Given the description of an element on the screen output the (x, y) to click on. 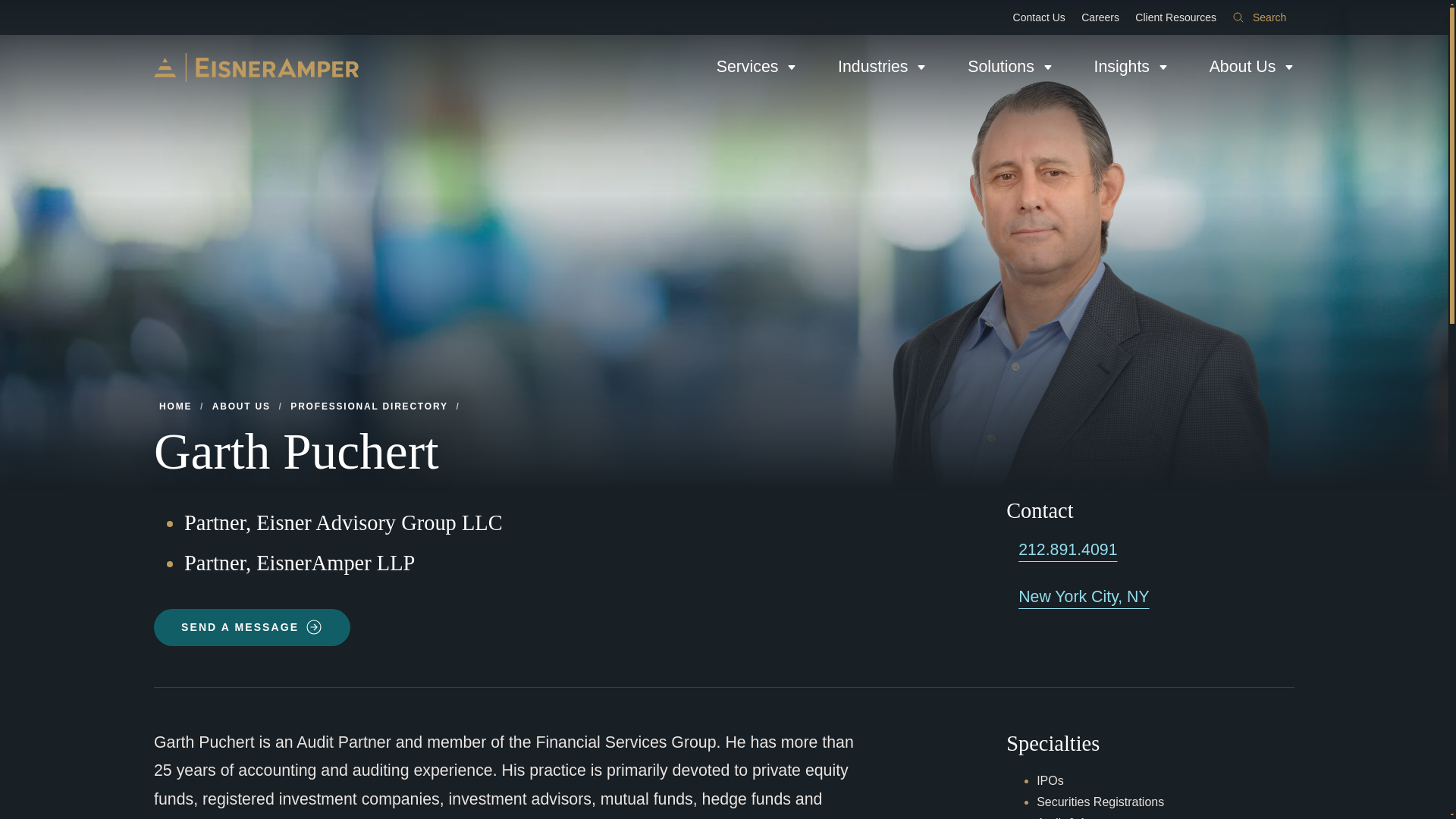
Skip to content (12, 6)
EisnerAmper Home (256, 67)
Careers (1100, 17)
Contact Us (1039, 17)
Client Resources (1175, 17)
Search (1259, 17)
